Given the description of an element on the screen output the (x, y) to click on. 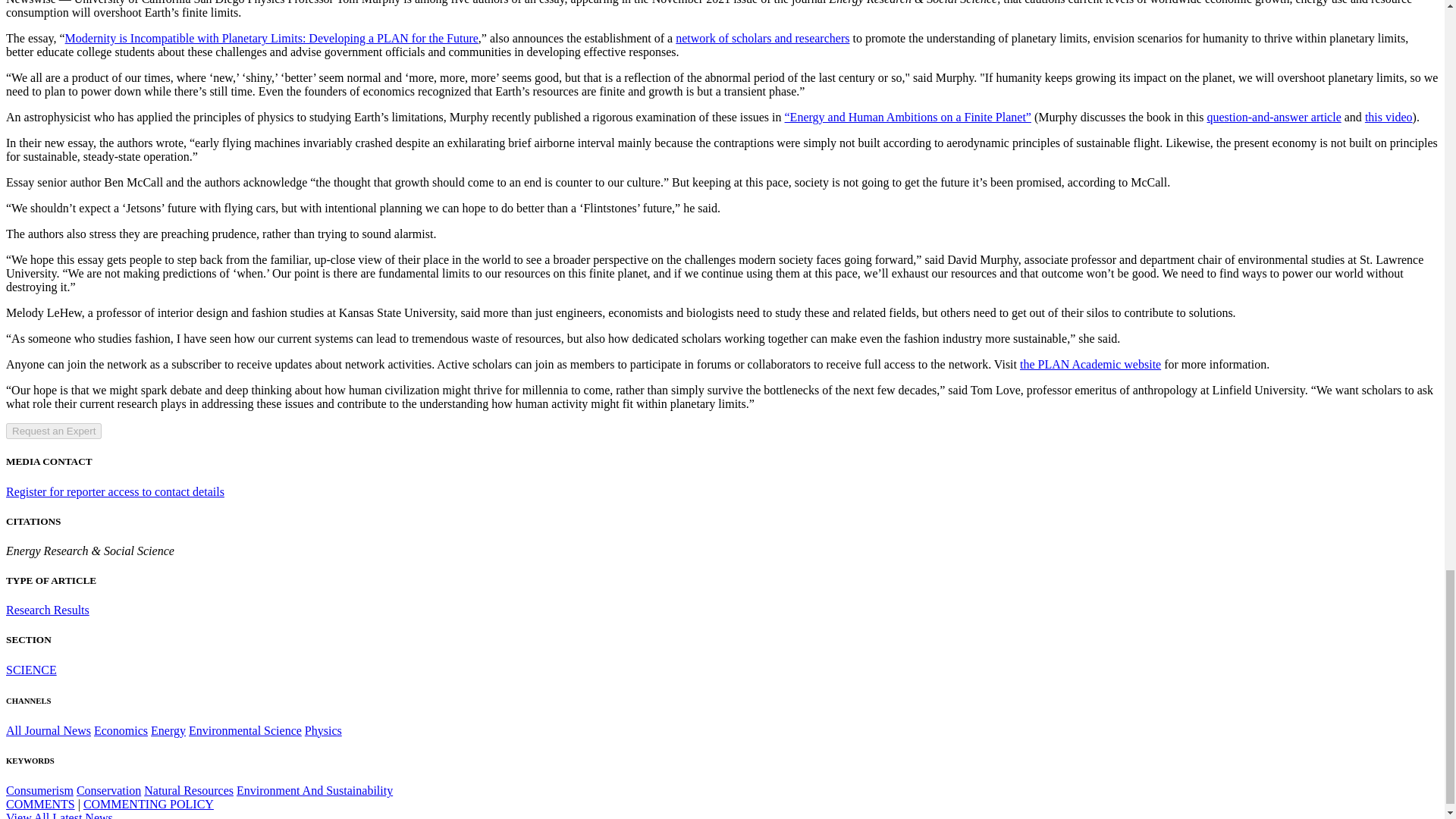
Research Results (46, 609)
Show all articles in this channel (121, 729)
Show all articles in this channel (47, 729)
Show all articles in this channel (30, 669)
